Given the description of an element on the screen output the (x, y) to click on. 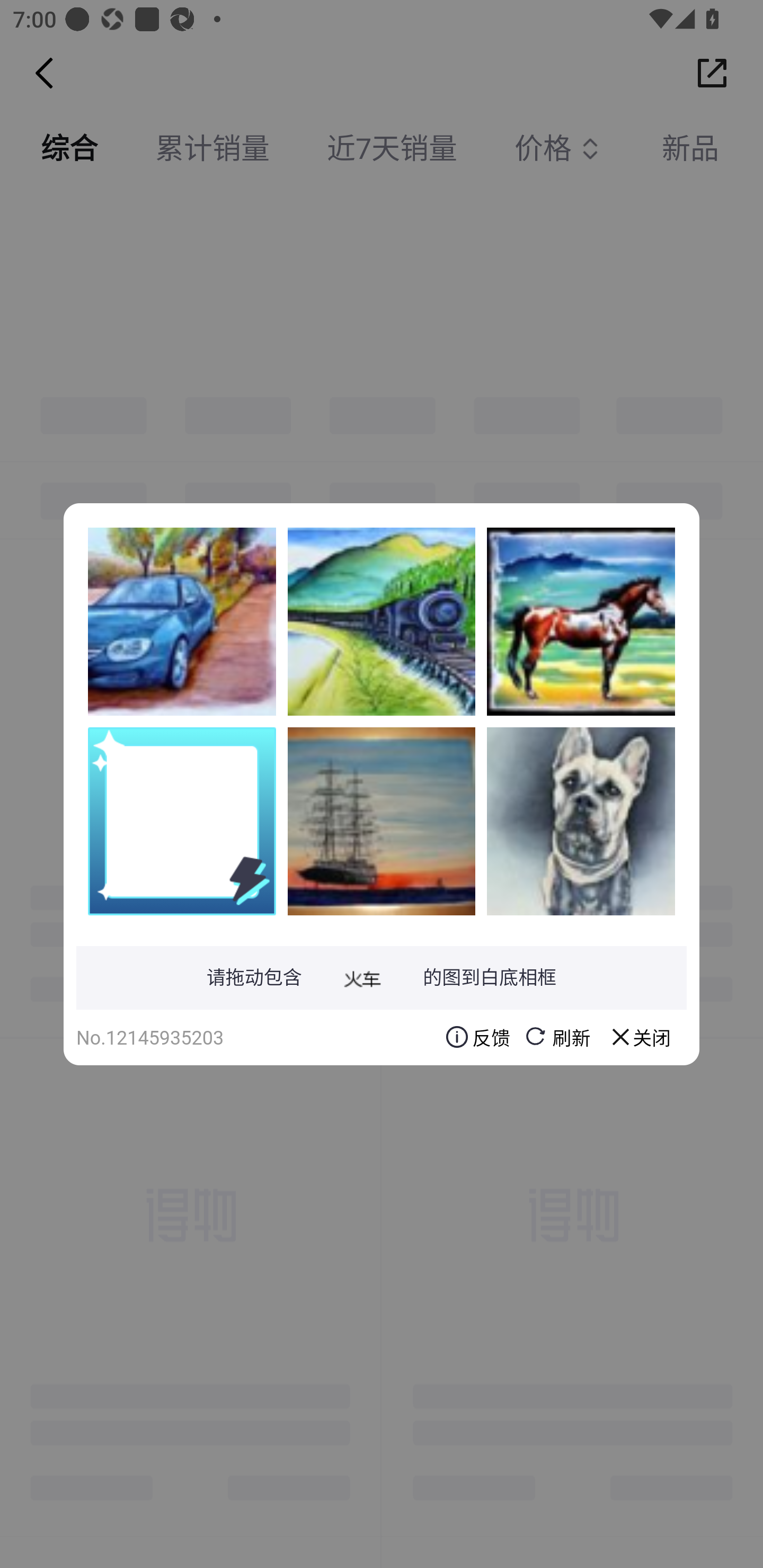
RtvaBl5qwwz9pmeKxpzD (580, 820)
